Given the description of an element on the screen output the (x, y) to click on. 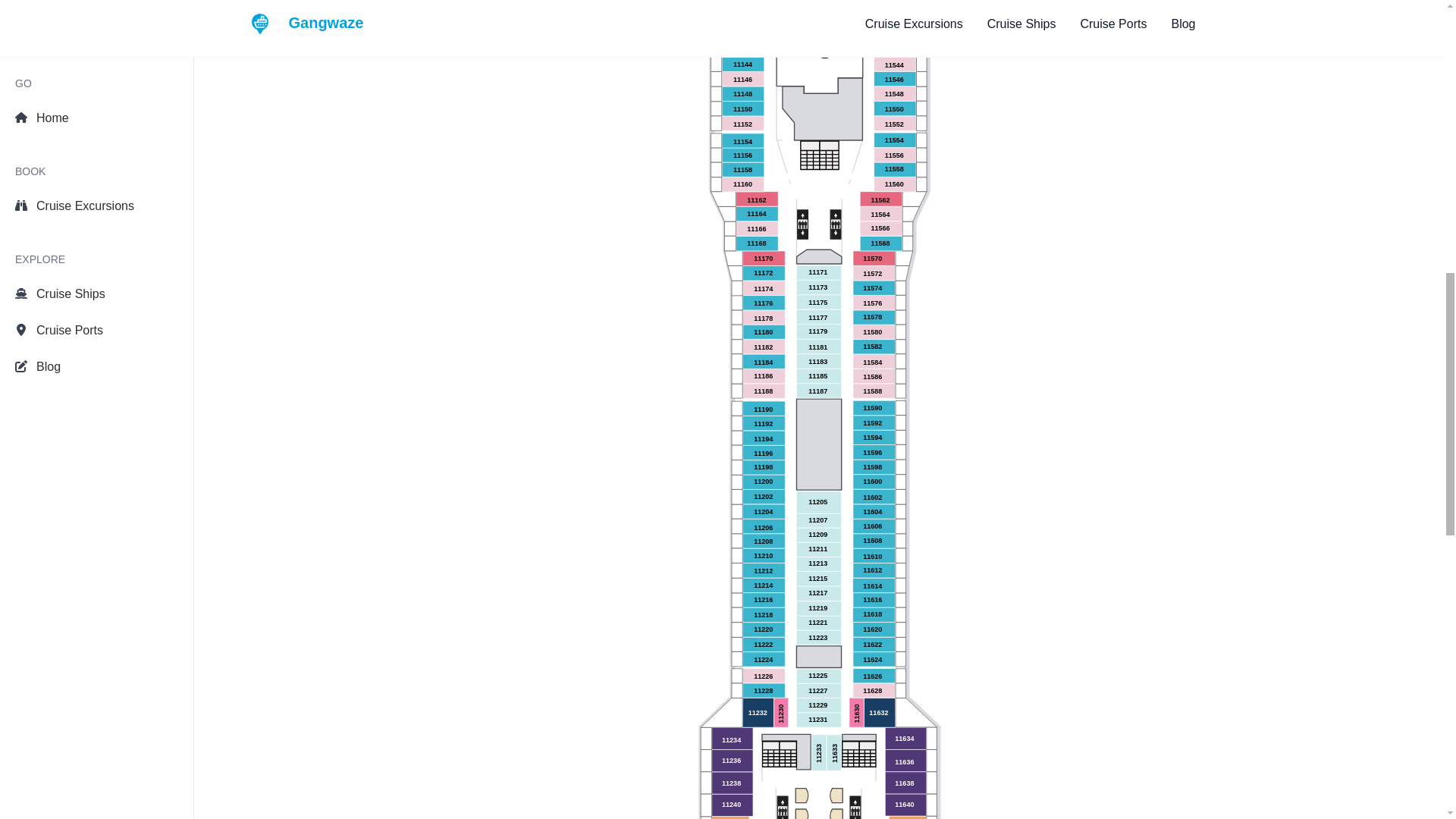
Details (340, 27)
See All Details (721, 340)
